Given the description of an element on the screen output the (x, y) to click on. 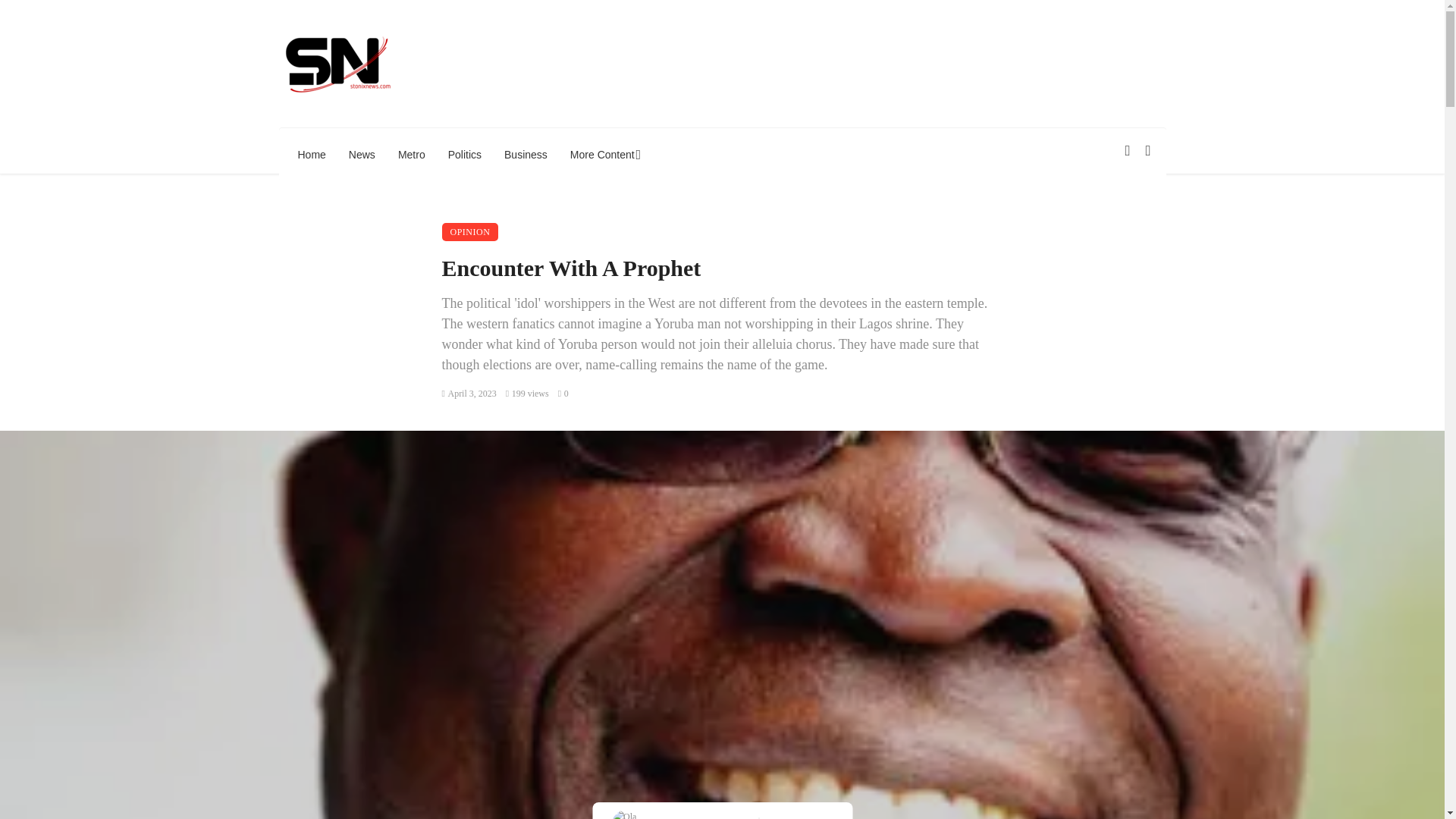
Home (311, 154)
Politics (464, 154)
Metro (411, 154)
News (362, 154)
